Given the description of an element on the screen output the (x, y) to click on. 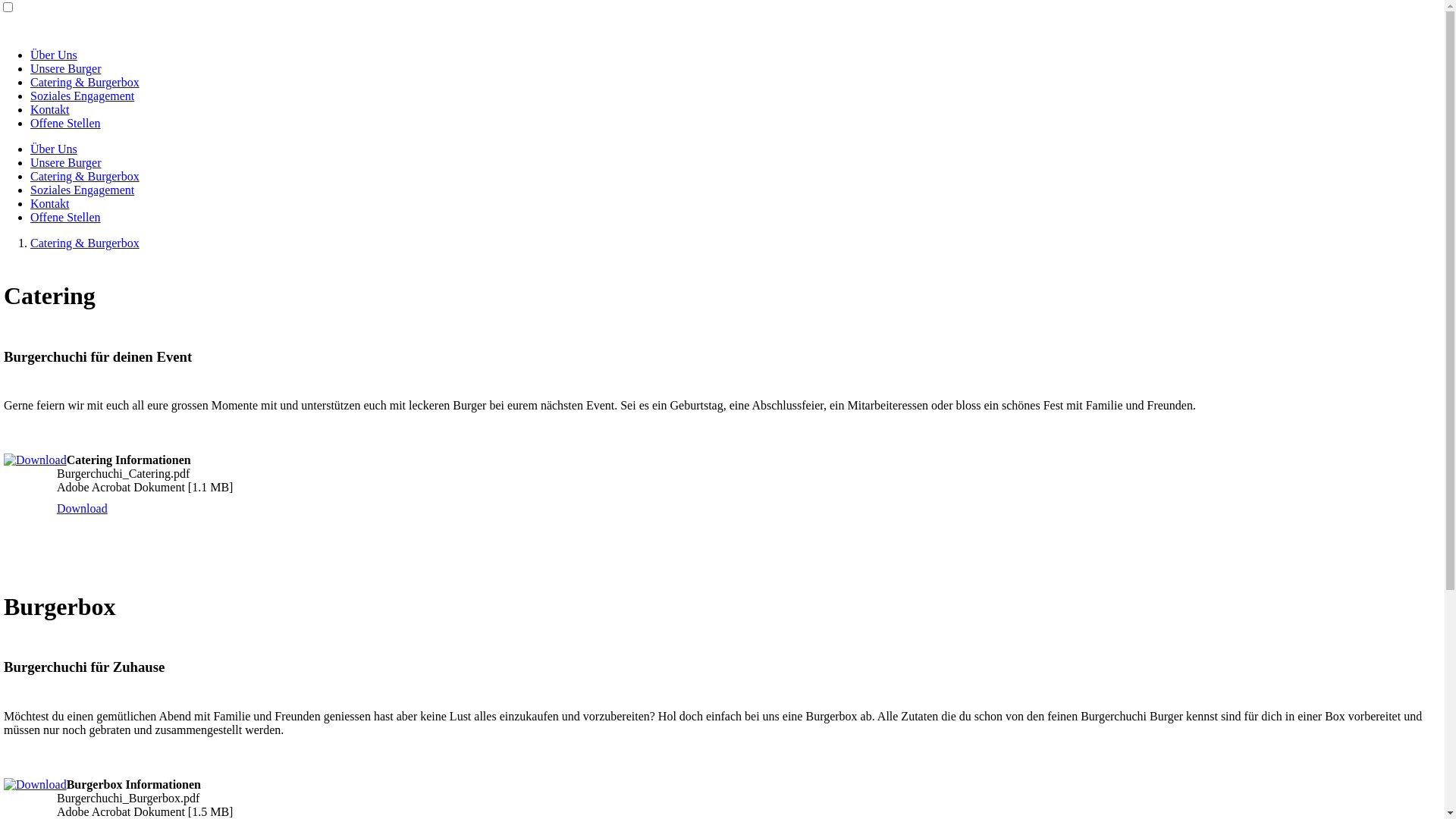
Kontakt Element type: text (49, 203)
Unsere Burger Element type: text (65, 68)
Offene Stellen Element type: text (65, 216)
Catering & Burgerbox Element type: text (84, 175)
Soziales Engagement Element type: text (82, 189)
Unsere Burger Element type: text (65, 162)
Kontakt Element type: text (49, 109)
Soziales Engagement Element type: text (82, 95)
Download Element type: text (81, 508)
Catering & Burgerbox Element type: text (84, 81)
Offene Stellen Element type: text (65, 122)
Catering & Burgerbox Element type: text (84, 242)
